Given the description of an element on the screen output the (x, y) to click on. 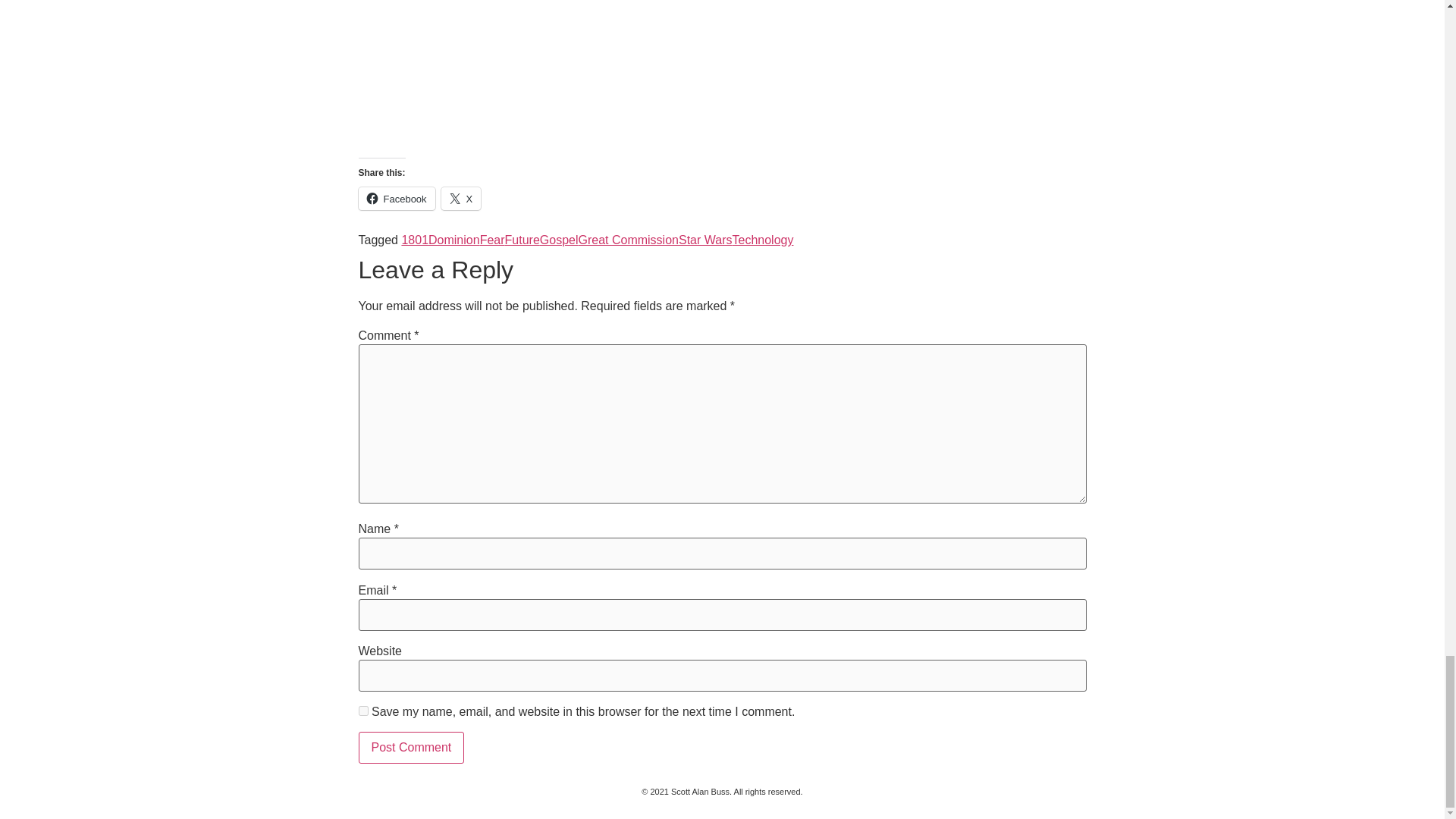
Fear (492, 239)
1801 (414, 239)
X (461, 198)
Click to share on Facebook (395, 198)
Post Comment (411, 747)
Facebook (395, 198)
Dominion (454, 239)
Click to share on X (461, 198)
yes (363, 710)
